Given the description of an element on the screen output the (x, y) to click on. 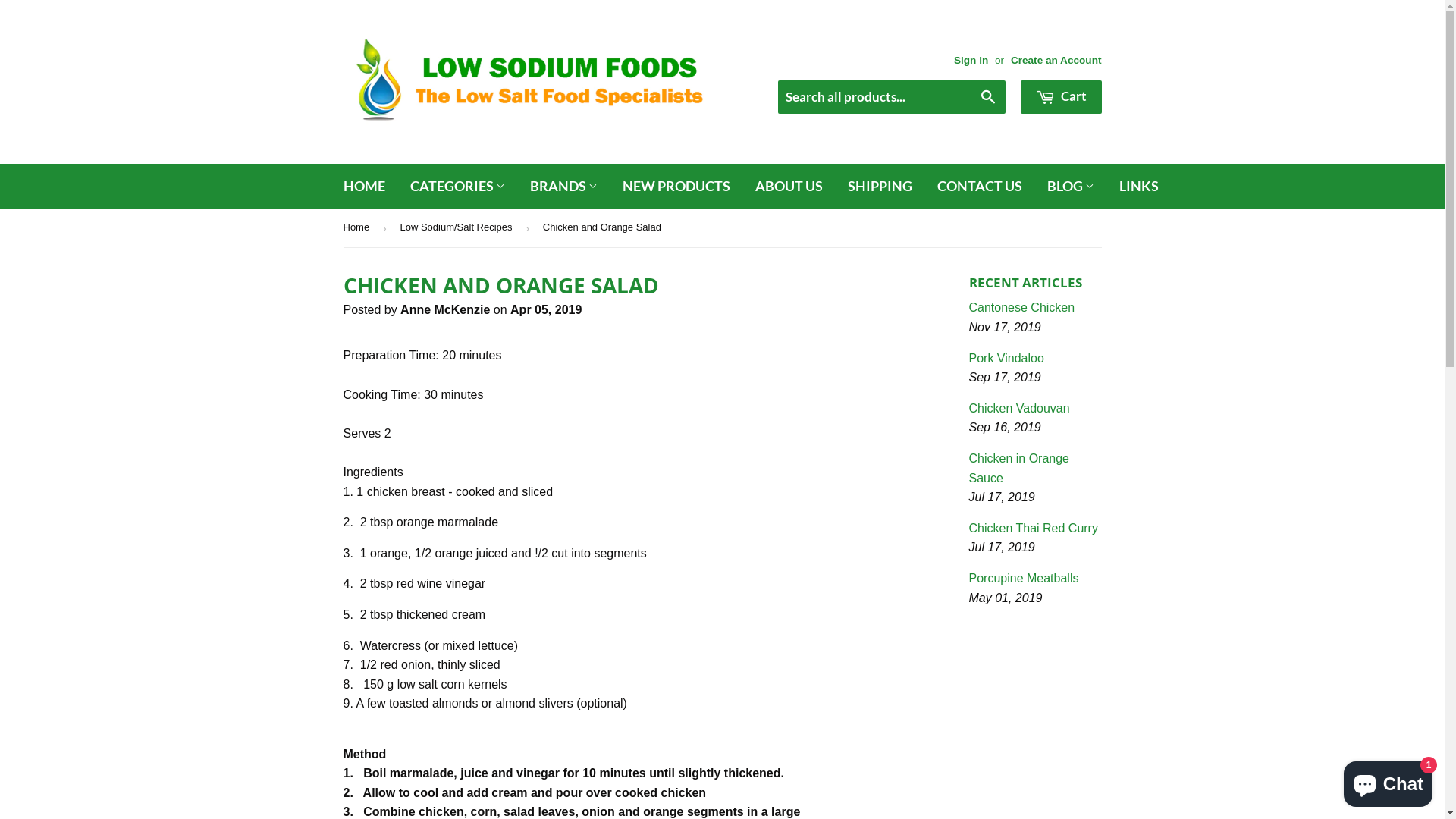
NEW PRODUCTS Element type: text (676, 185)
BRANDS Element type: text (563, 185)
Chicken Thai Red Curry Element type: text (1033, 527)
Cantonese Chicken Element type: text (1022, 307)
Low Sodium/Salt Recipes Element type: text (458, 227)
CATEGORIES Element type: text (457, 185)
LINKS Element type: text (1138, 185)
CONTACT US Element type: text (978, 185)
Search Element type: text (988, 97)
ABOUT US Element type: text (788, 185)
SHIPPING Element type: text (878, 185)
Create an Account Element type: text (1055, 59)
Porcupine Meatballs Element type: text (1024, 577)
Chicken in Orange Sauce Element type: text (1019, 467)
BLOG Element type: text (1070, 185)
Pork Vindaloo Element type: text (1006, 357)
Shopify online store chat Element type: hover (1388, 780)
Sign in Element type: text (970, 59)
HOME Element type: text (364, 185)
Cart Element type: text (1060, 96)
Home Element type: text (358, 227)
Chicken Vadouvan Element type: text (1019, 407)
